Given the description of an element on the screen output the (x, y) to click on. 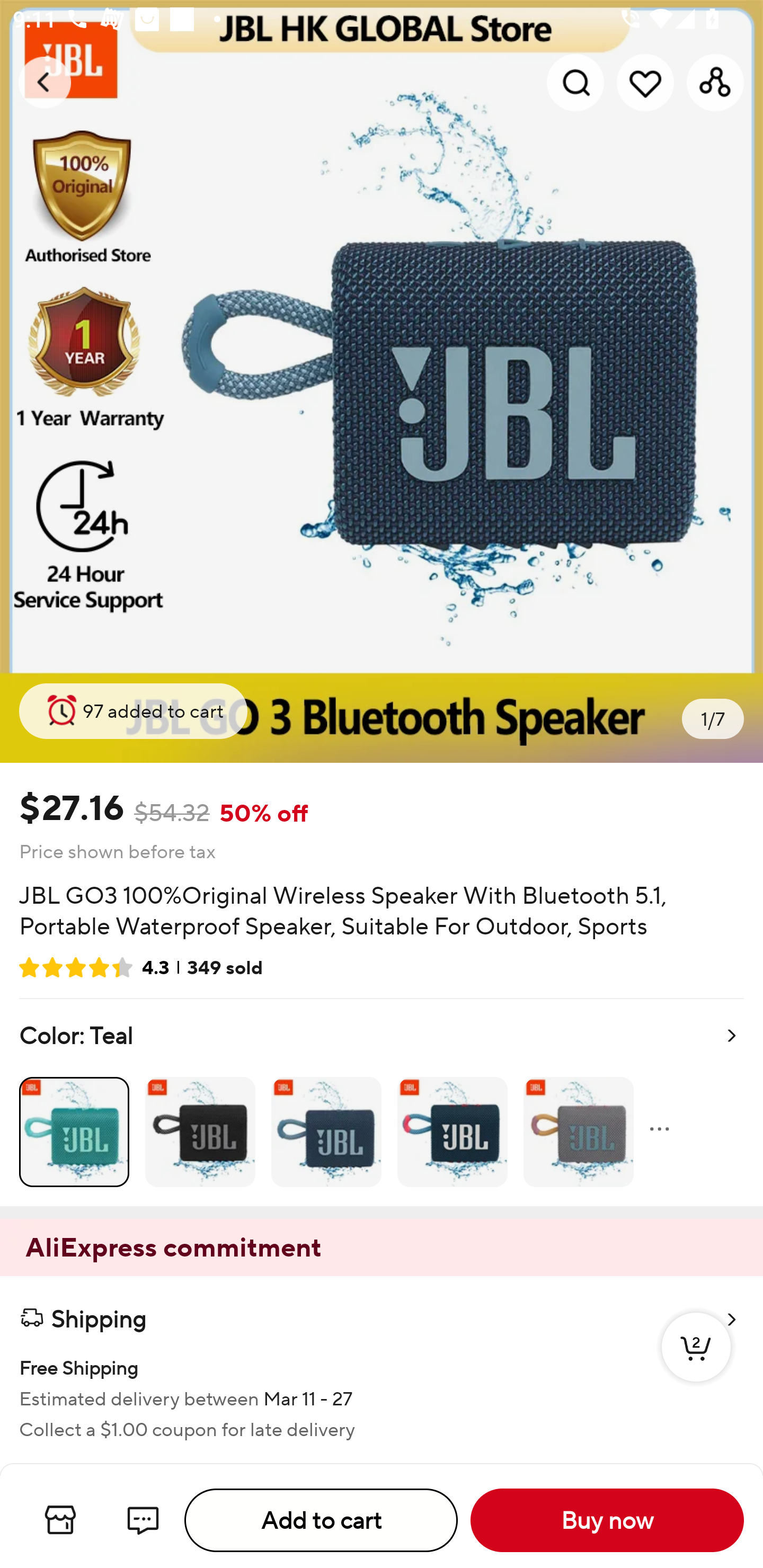
Navigate up (44, 82)
Color: Teal  (381, 1101)
2 (695, 1366)
Add to cart (320, 1520)
Buy now (606, 1520)
